Given the description of an element on the screen output the (x, y) to click on. 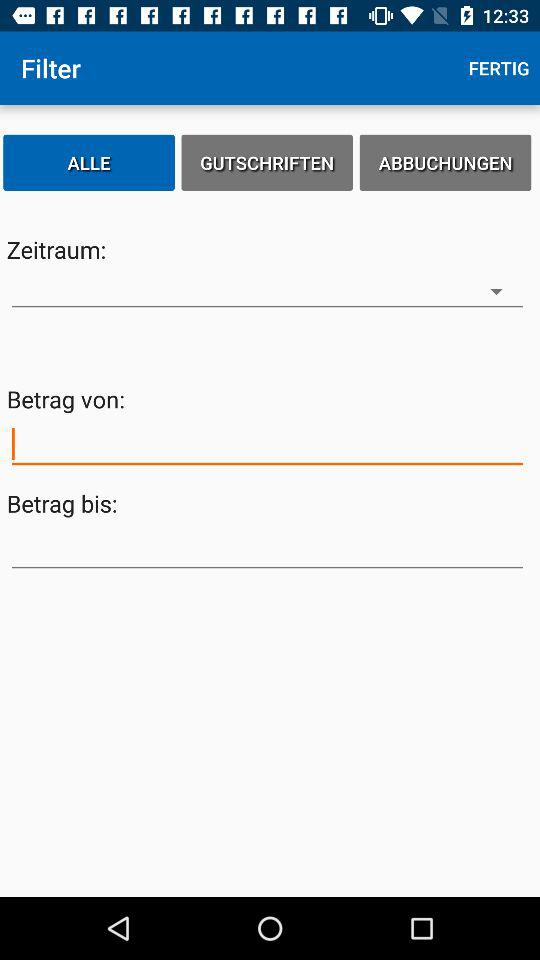
swipe until fertig item (499, 67)
